Given the description of an element on the screen output the (x, y) to click on. 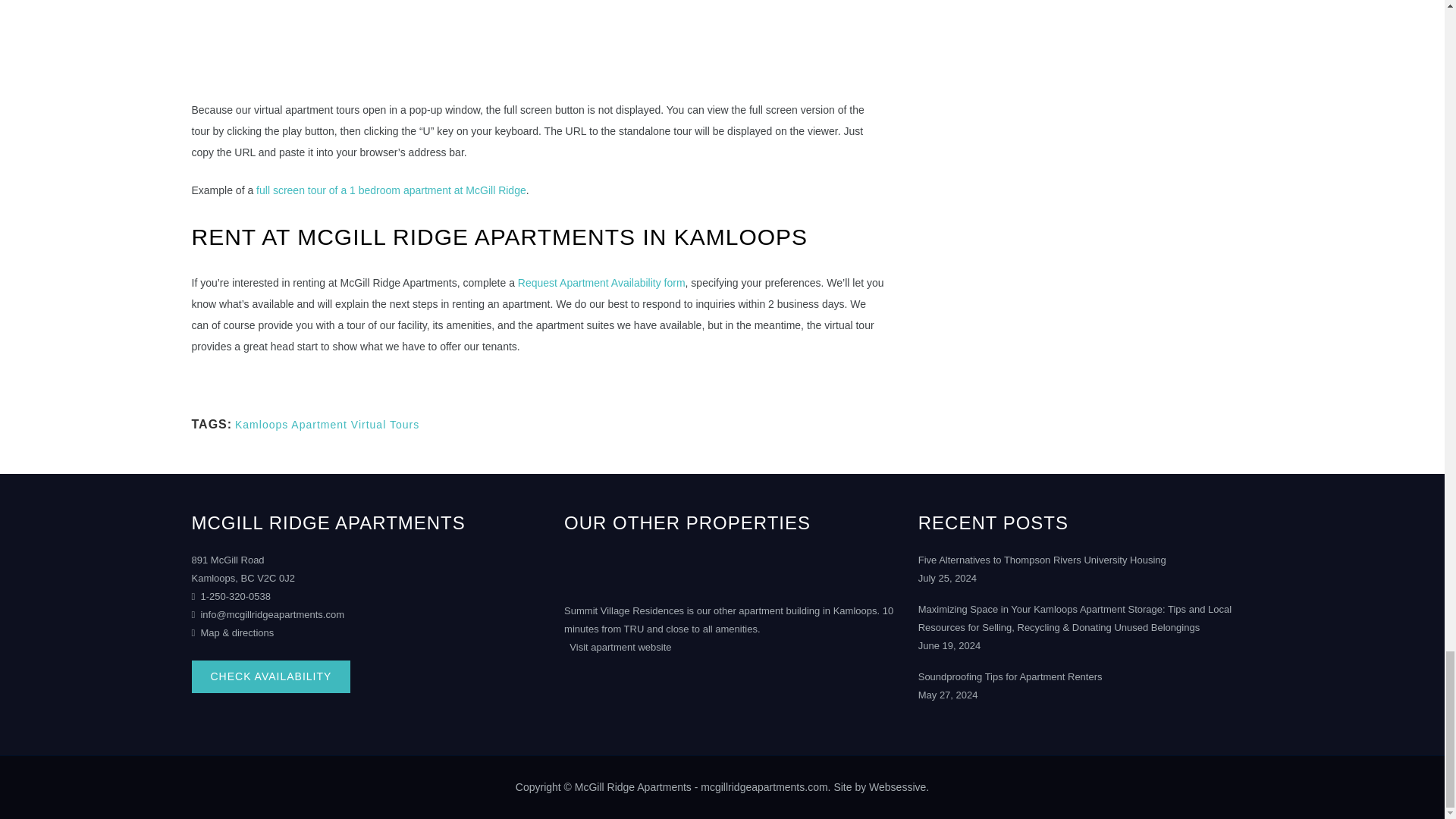
full screen tour of a 1 bedroom apartment at McGill Ridge (390, 190)
Kamloops Apartment Virtual Tours (326, 424)
Request Apartment Availability form (601, 282)
